Given the description of an element on the screen output the (x, y) to click on. 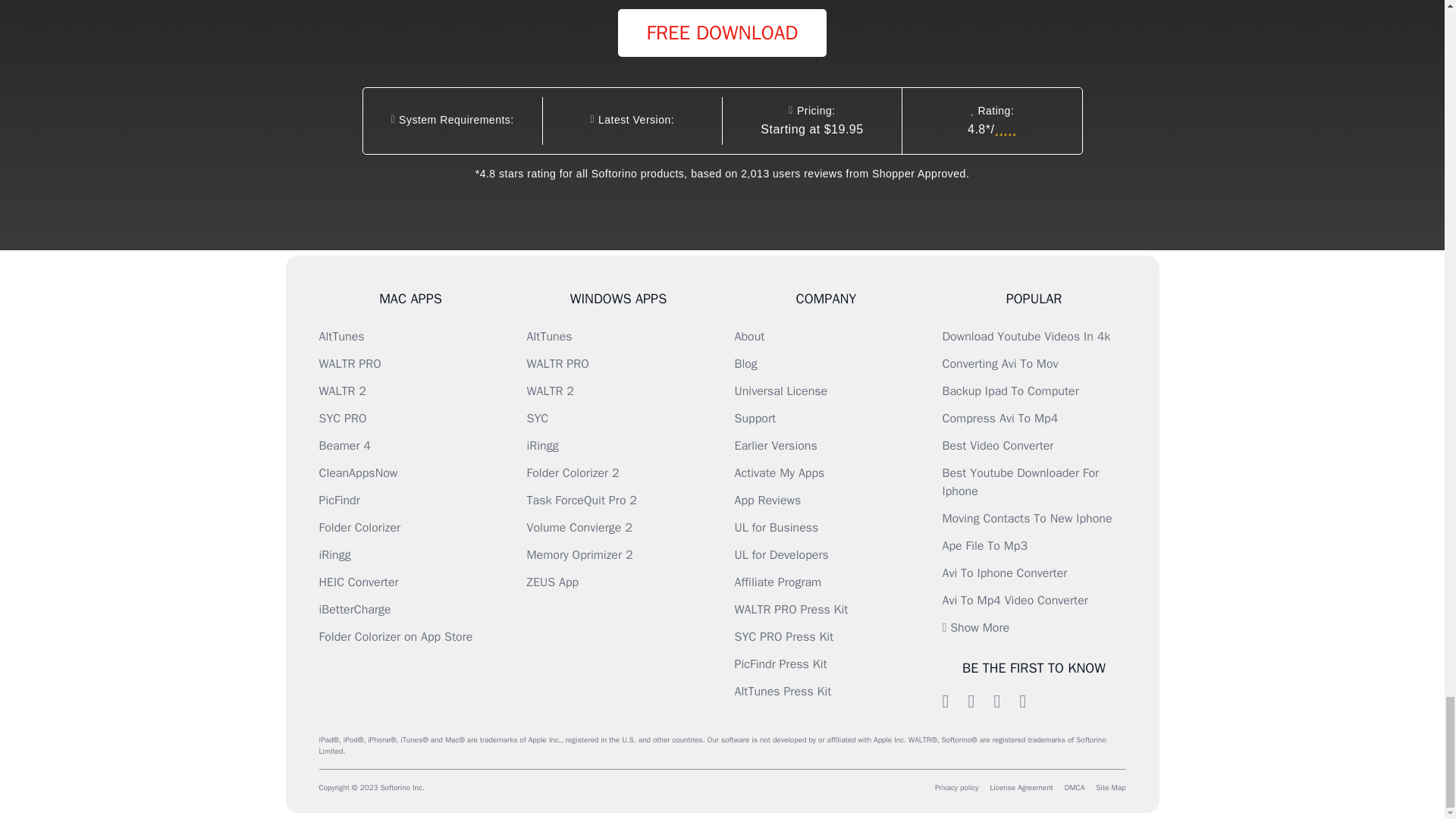
best youtube downloader for iphone (1020, 482)
backup ipad to computer (1010, 391)
best video converter (997, 445)
avi to mp4 video converter (1014, 600)
download youtube videos in 4k (1025, 336)
converting avi to mov (1000, 363)
compress avi to mp4 (1000, 418)
avi to iphone converter (1004, 572)
moving contacts to new iphone (1027, 518)
ape file to mp3 (984, 545)
